Given the description of an element on the screen output the (x, y) to click on. 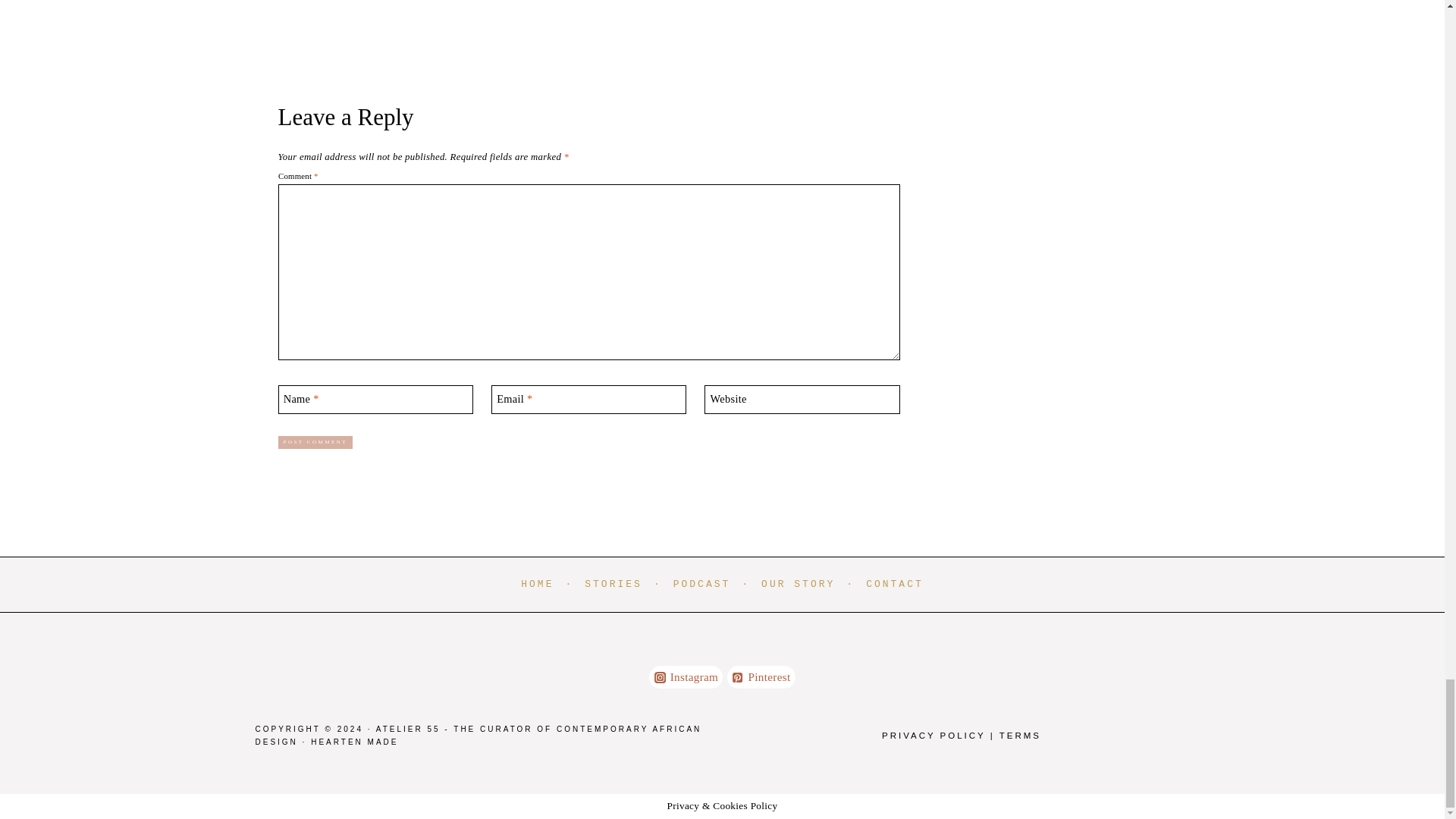
Post Comment (315, 441)
